Given the description of an element on the screen output the (x, y) to click on. 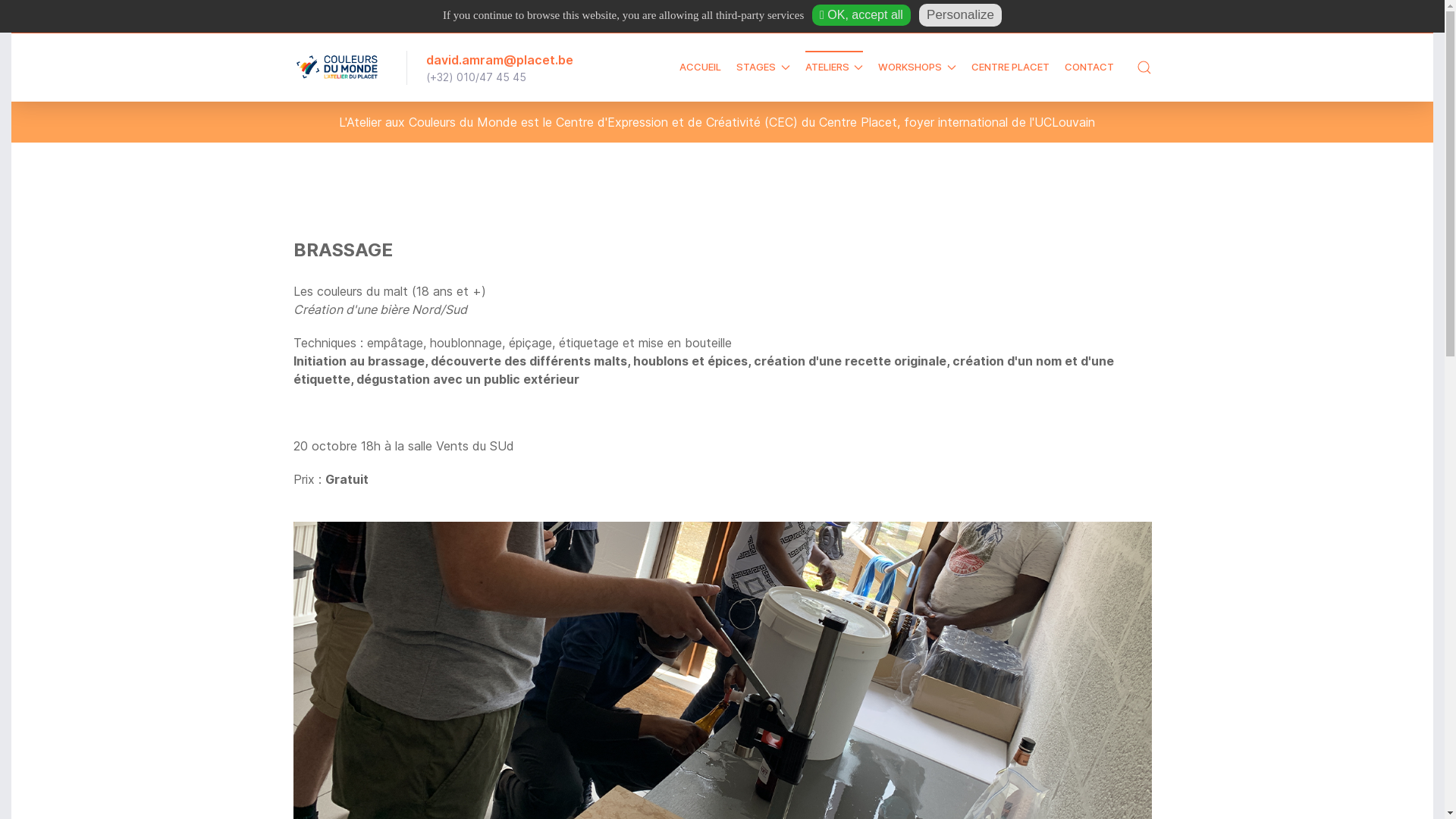
CENTRE PLACET Element type: text (1009, 67)
david.amram@placet.be Element type: text (499, 59)
ATELIERS Element type: text (834, 67)
Search Icon Element type: hover (1143, 67)
STAGES Element type: text (763, 67)
WORKSHOPS Element type: text (917, 67)
ACCUEIL Element type: text (700, 67)
Personalize Element type: text (960, 14)
CONTACT Element type: text (1088, 67)
